Given the description of an element on the screen output the (x, y) to click on. 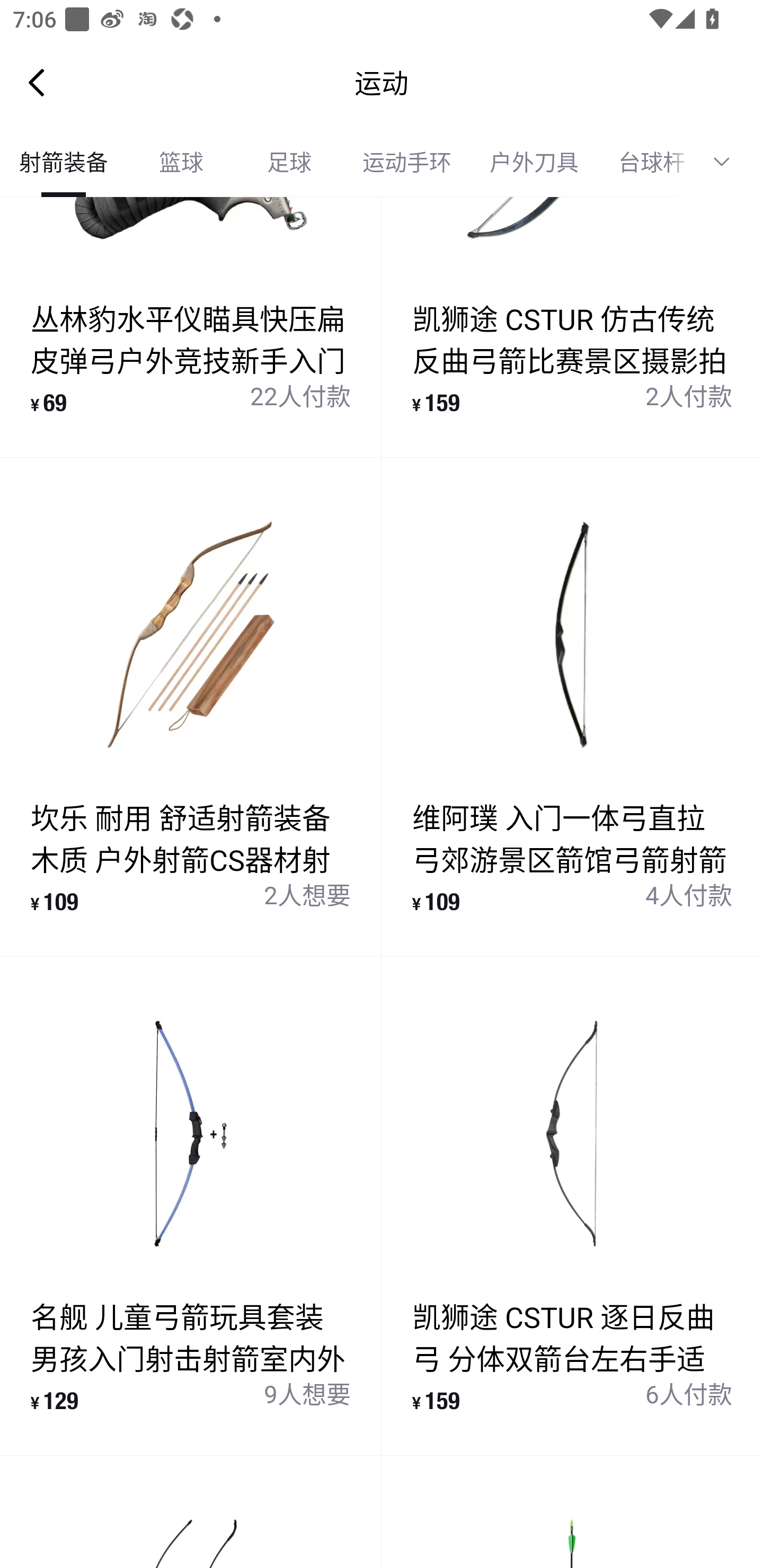
Navigate up (36, 82)
射箭装备 (63, 162)
篮球 (181, 162)
足球 (289, 162)
运动手环 (406, 162)
户外刀具 (533, 162)
台球杆 (644, 162)
 (727, 162)
丛林豹水平仪瞄具快压扁
皮弹弓户外竞技新手入门
狩猎弓 ¥ 69 22人付款 (190, 327)
坎乐 耐用 舒适射箭装备 
木质 户外射箭CS器材射
箭运动练习传统弓 ¥ 109 2人想要 (190, 706)
维阿璞 入门一体弓直拉
弓郊游景区箭馆弓箭射箭
支户外运动射靶纸靶子弓 ¥ 109 4人付款 (572, 706)
名舰 儿童弓箭玩具套装
男孩入门射击射箭室内外
吸盘家用户外运动弓箭射
箭装备 ¥ 129 9人想要 (190, 1205)
